Given the description of an element on the screen output the (x, y) to click on. 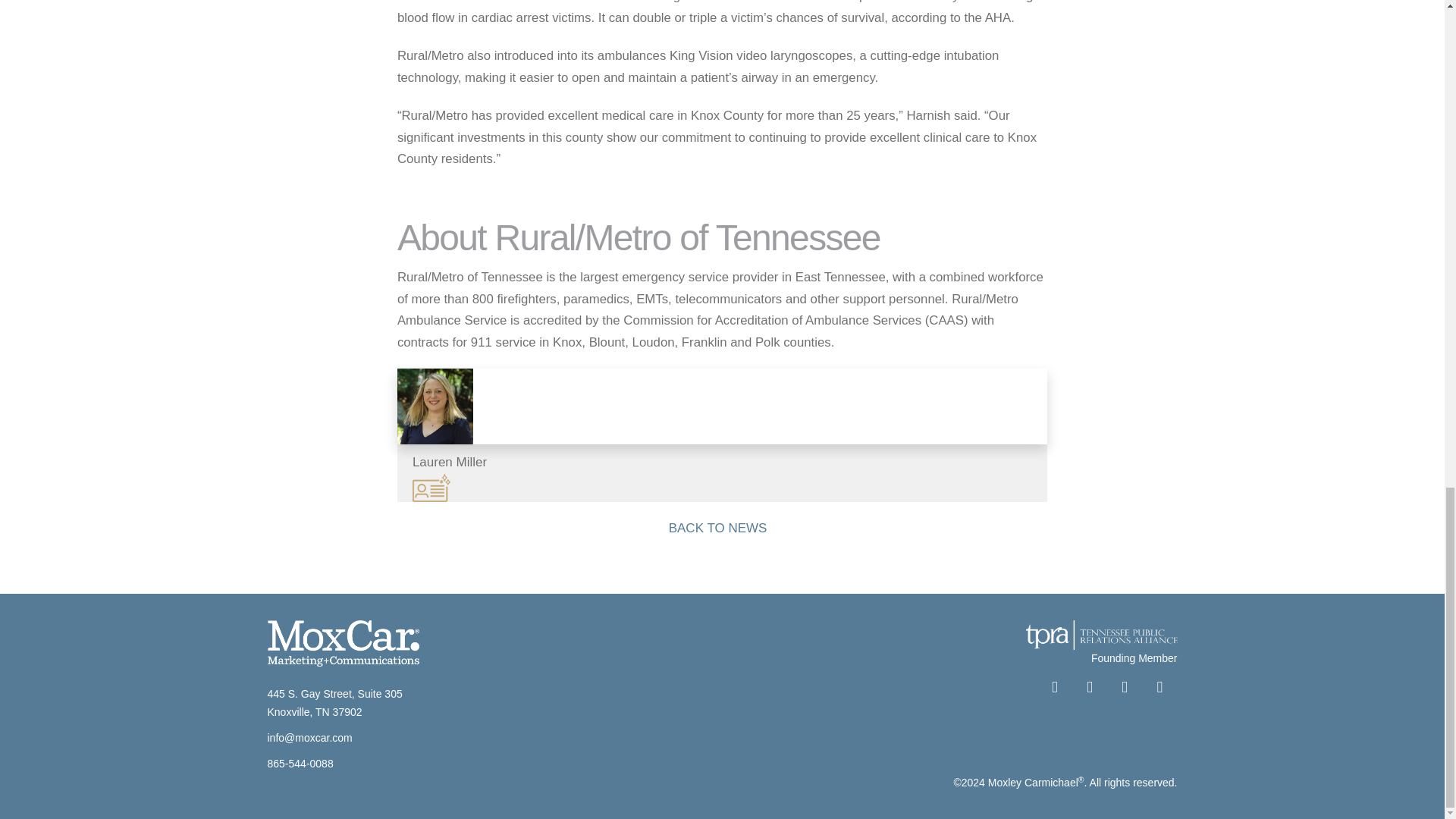
Lauren Miller (721, 435)
445 S. Gay Street, Suite 305 (333, 693)
BACK TO NEWS (722, 530)
865-544-0088 (299, 763)
Knoxville, TN 37902 (313, 711)
